Given the description of an element on the screen output the (x, y) to click on. 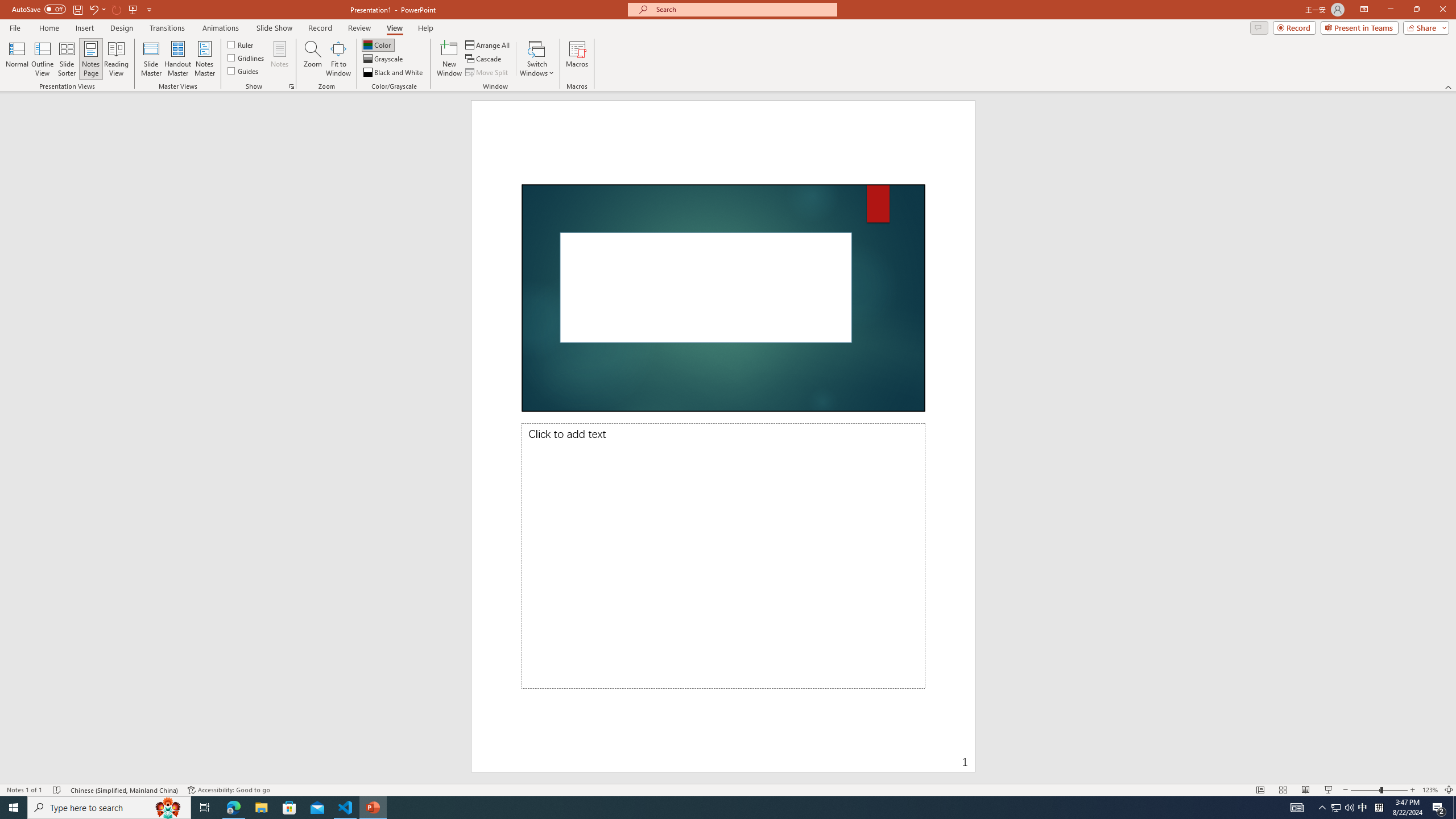
Zoom (1379, 790)
Record (320, 28)
System (6, 6)
Ribbon Display Options (1364, 9)
Slide Notes (723, 555)
Slide Show (1328, 790)
Arrange All (488, 44)
Spell Check No Errors (57, 790)
Undo (96, 9)
Notes (279, 58)
File Tab (15, 27)
Macros (576, 58)
Color (377, 44)
Gridlines (246, 56)
Share (1423, 27)
